Given the description of an element on the screen output the (x, y) to click on. 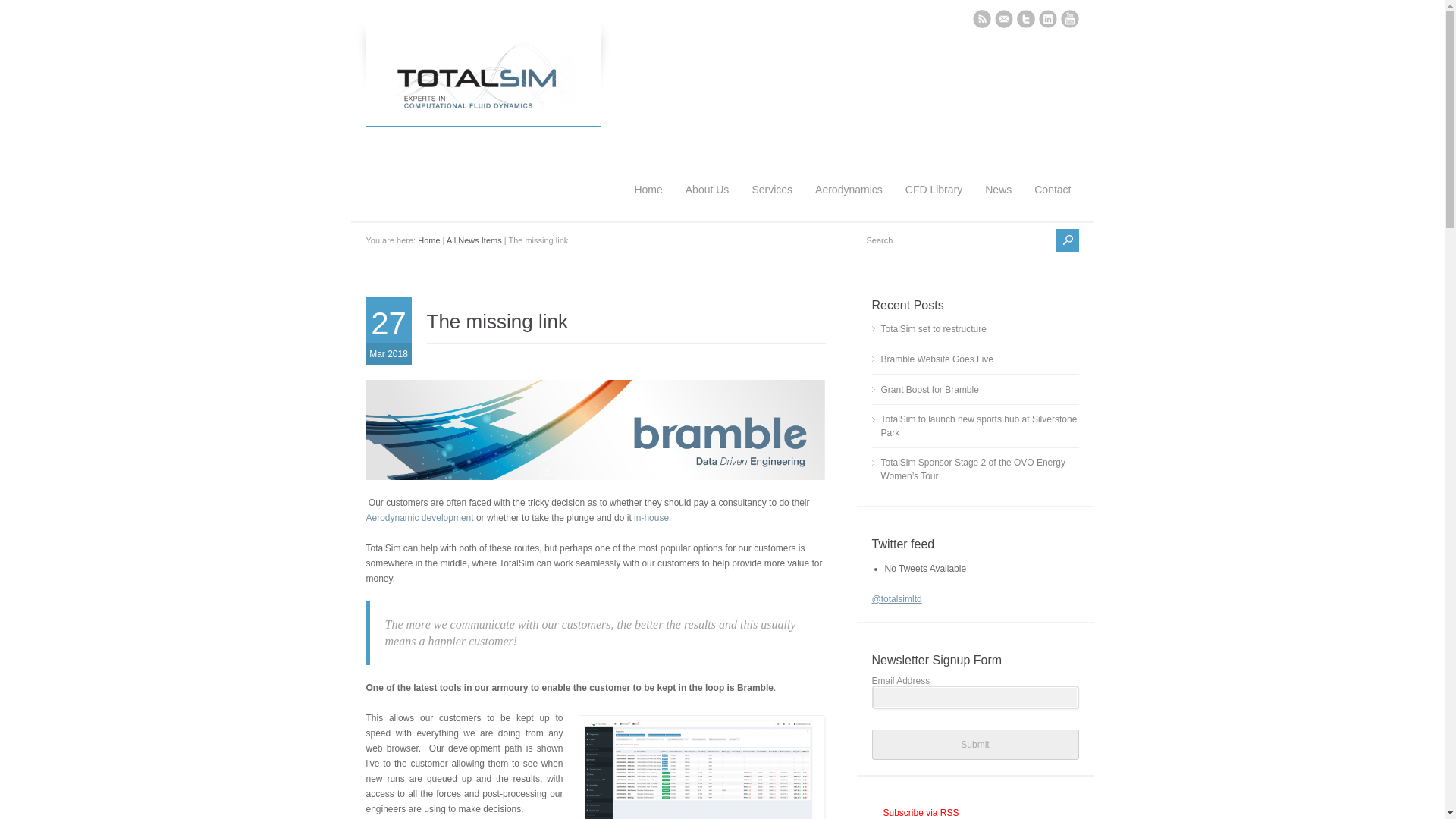
Search (957, 240)
Search (957, 240)
Aerodynamics (848, 172)
About Us (707, 172)
Services (771, 172)
The missing link (496, 321)
